Given the description of an element on the screen output the (x, y) to click on. 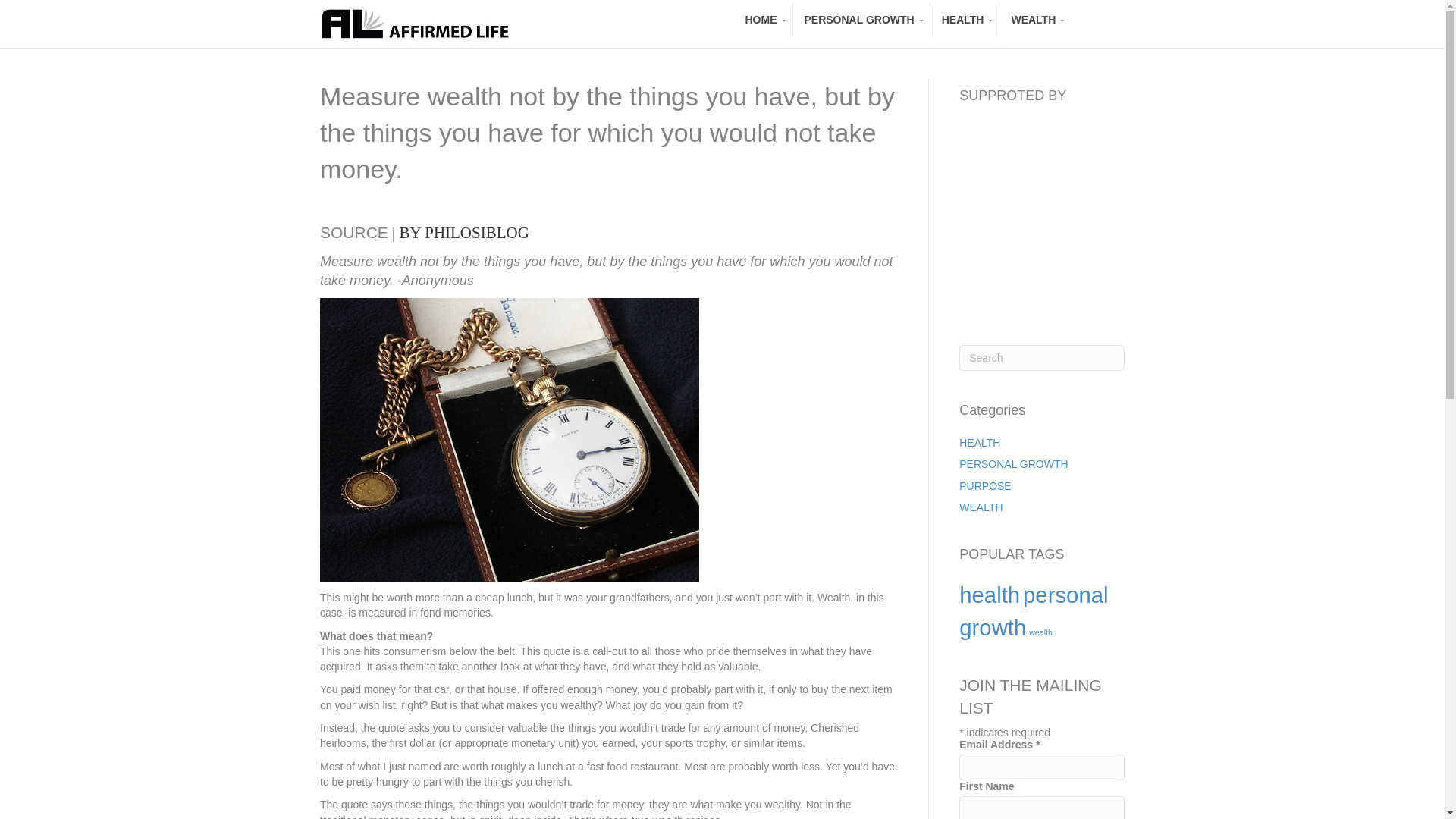
WEALTH (1034, 20)
WEALTH (981, 507)
Search (1041, 357)
HOME (762, 20)
personal growth (1033, 610)
HEALTH (964, 20)
PERSONAL GROWTH (1013, 463)
Type and press Enter to search. (1041, 357)
Search (1041, 357)
PURPOSE (984, 485)
SOURCE (354, 231)
health (989, 594)
wealth (1040, 632)
Advertisement (1072, 216)
HEALTH (979, 442)
